Given the description of an element on the screen output the (x, y) to click on. 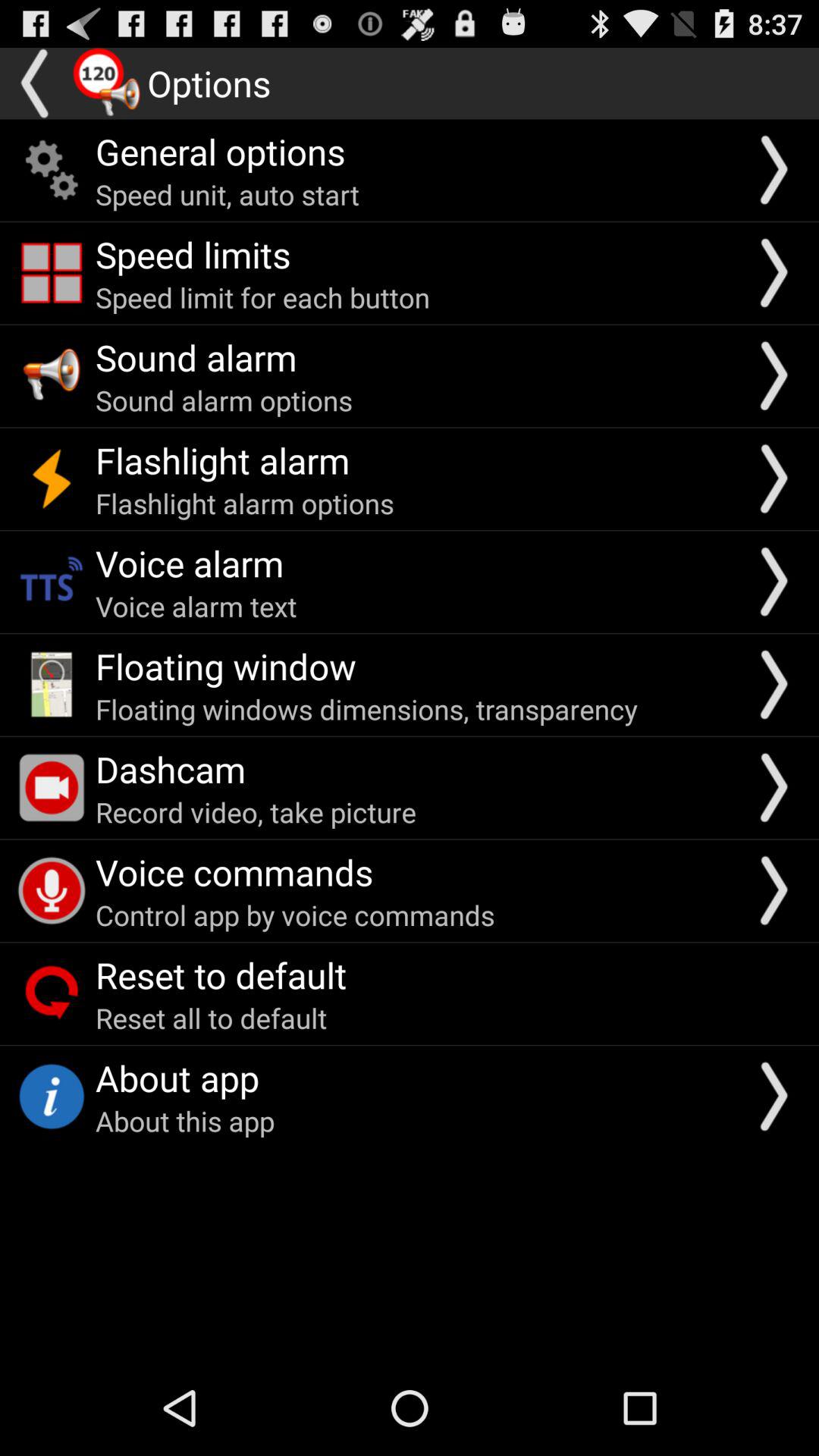
click the item above the speed unit auto icon (220, 151)
